Given the description of an element on the screen output the (x, y) to click on. 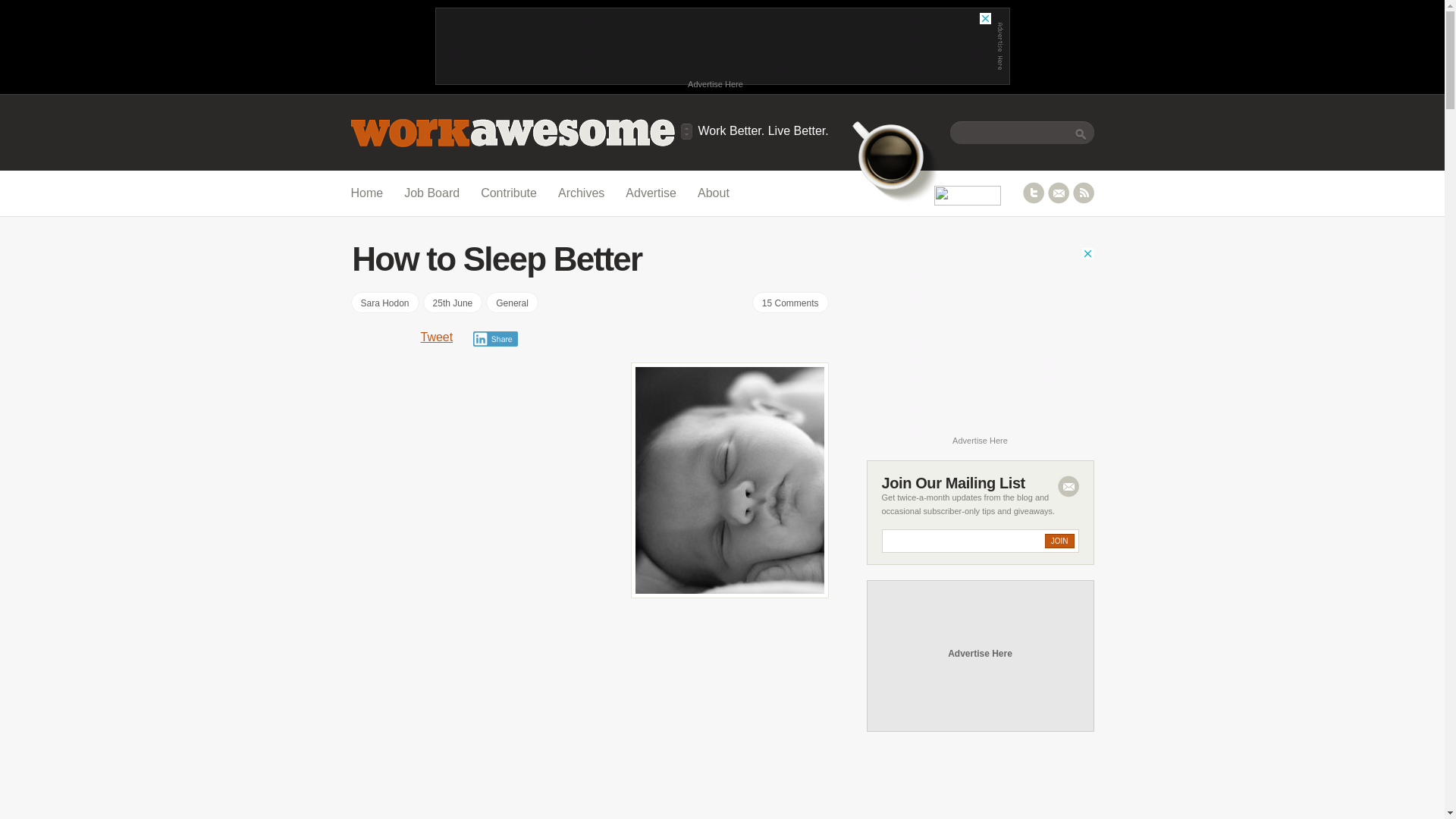
25th June (453, 301)
15 Comments (790, 301)
Advertise Here (715, 84)
Advertise (651, 192)
Work Awesome (762, 130)
Join (1059, 540)
Sara Hodon (384, 301)
Permanent Link to the June archives (453, 301)
Email Updates (1058, 192)
Archives (580, 192)
3rd party ad content (715, 46)
Job Board (431, 192)
General (512, 301)
Home (366, 192)
Search (1079, 131)
